Given the description of an element on the screen output the (x, y) to click on. 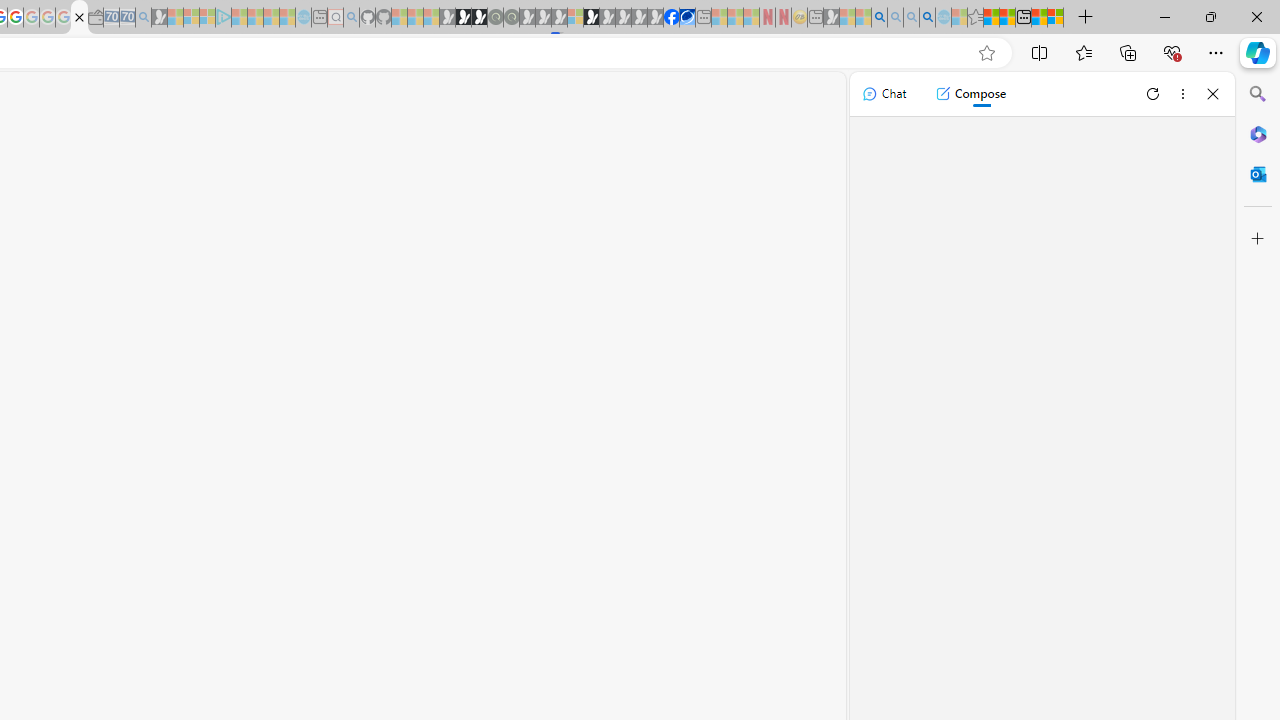
Favorites - Sleeping (975, 17)
MSN - Sleeping (831, 17)
Bing Real Estate - Home sales and rental listings - Sleeping (143, 17)
Play Zoo Boom in your browser | Games from Microsoft Start (463, 17)
